Given the description of an element on the screen output the (x, y) to click on. 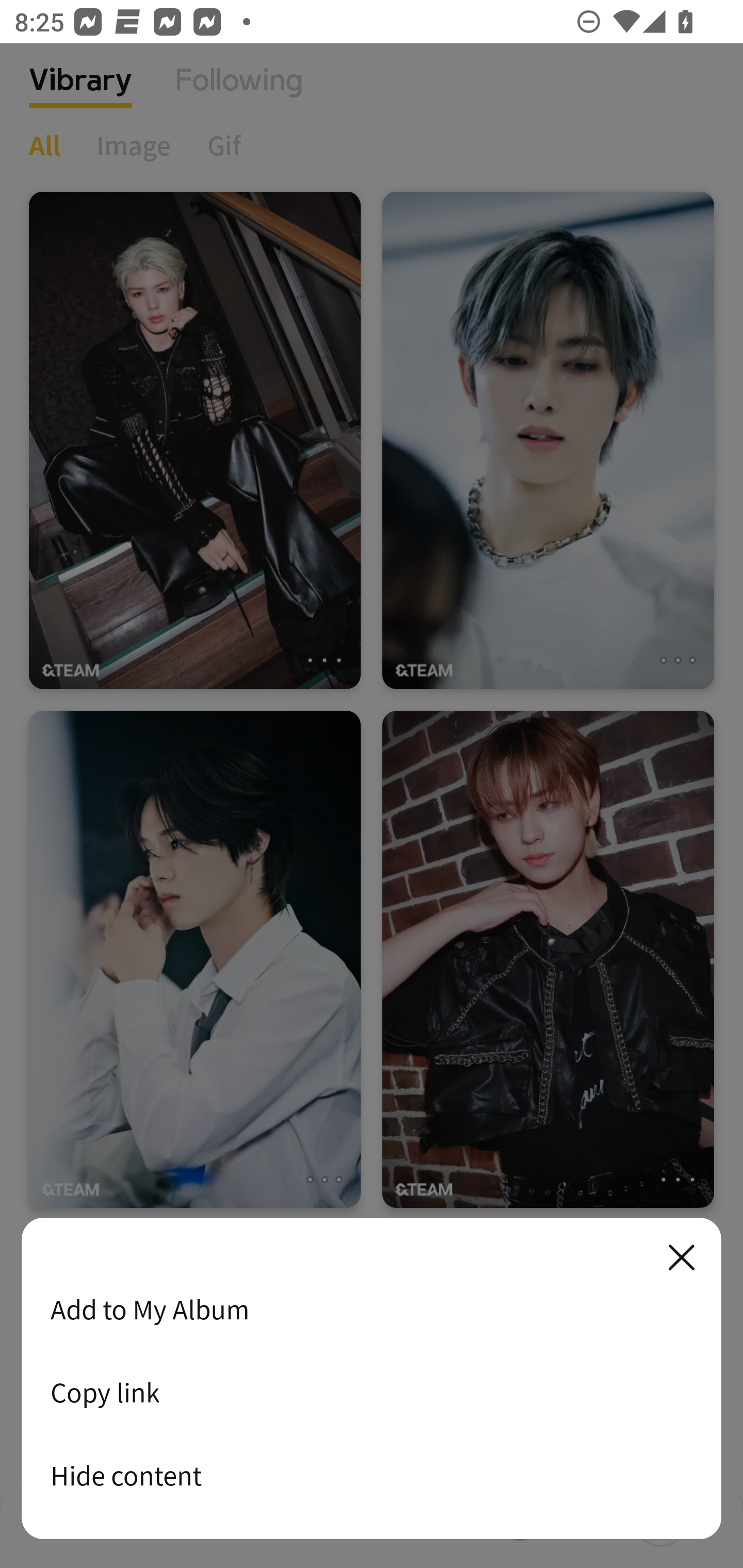
Add to My Album Copy link Hide content (371, 1378)
Add to My Album (371, 1308)
Copy link (371, 1391)
Hide content (371, 1474)
